Given the description of an element on the screen output the (x, y) to click on. 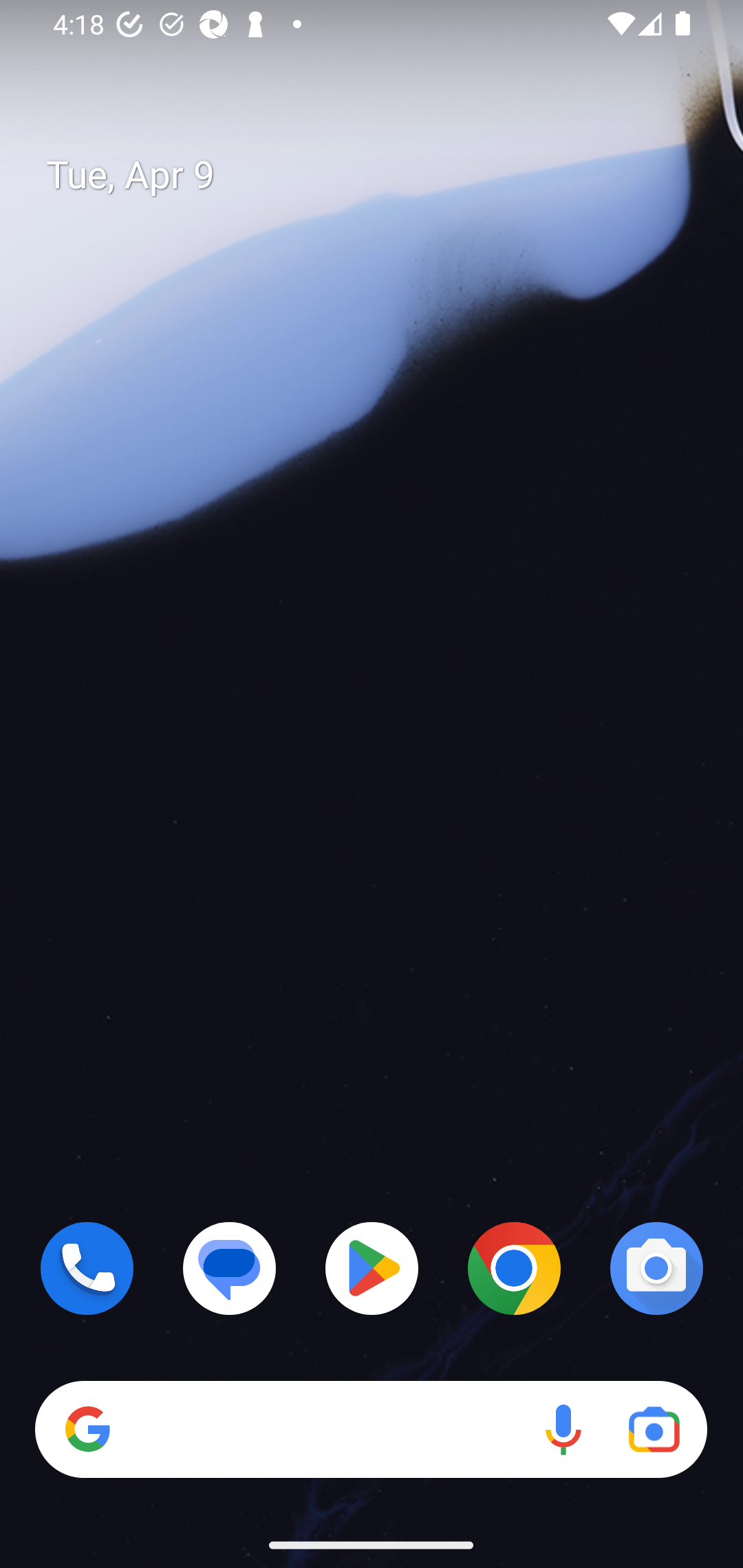
Tue, Apr 9 (386, 175)
Phone (86, 1268)
Messages (229, 1268)
Play Store (371, 1268)
Chrome (513, 1268)
Camera (656, 1268)
Voice search (562, 1429)
Google Lens (653, 1429)
